Given the description of an element on the screen output the (x, y) to click on. 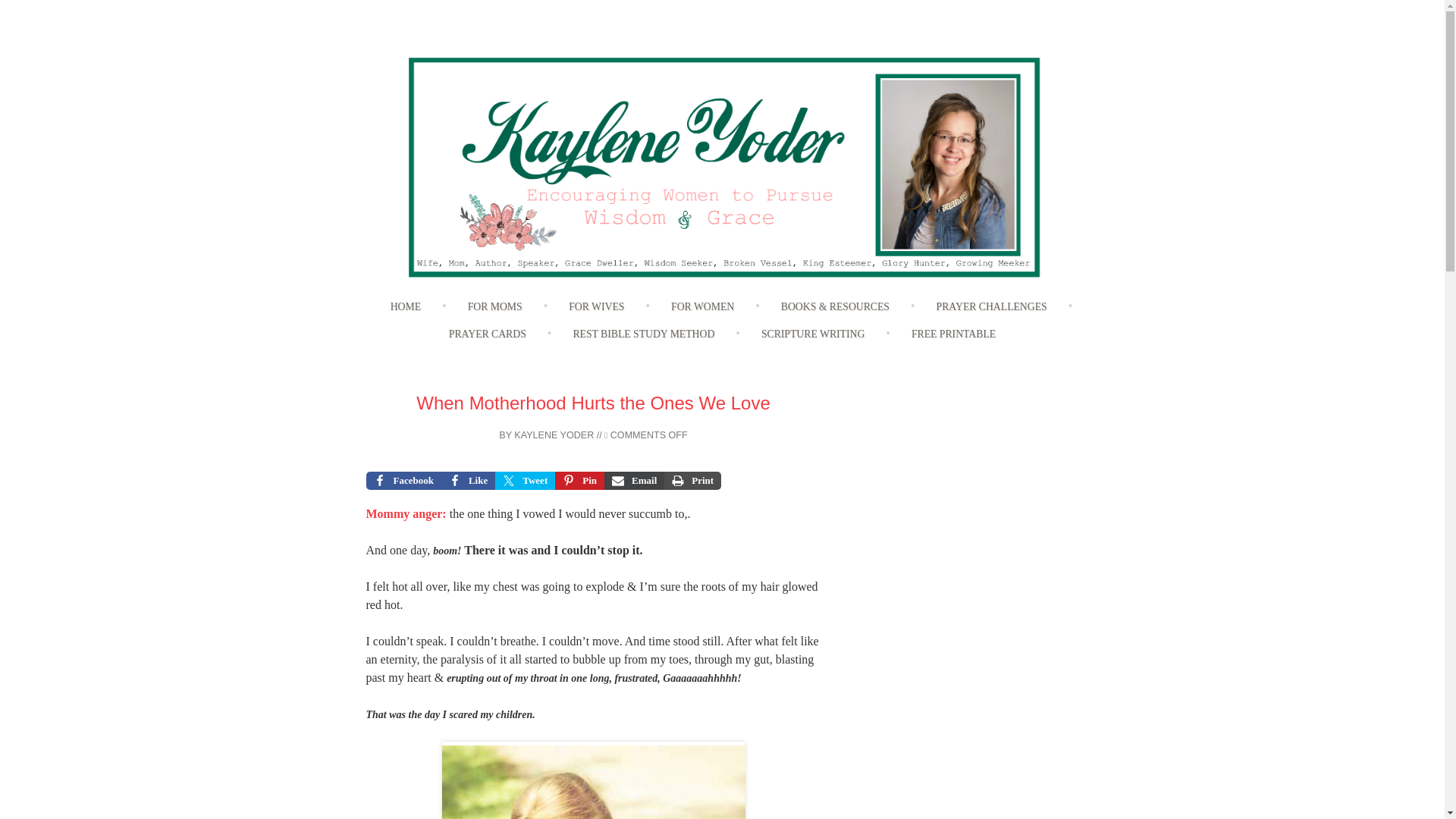
Share via Email (633, 480)
Print this Page (691, 480)
Email (633, 480)
REST BIBLE STUDY METHOD (643, 334)
Like on Facebook (468, 480)
HOME (405, 307)
FOR WOMEN (702, 307)
FOR WIVES (596, 307)
Share on Facebook (403, 480)
View all posts by Kaylene Yoder (553, 434)
